Given the description of an element on the screen output the (x, y) to click on. 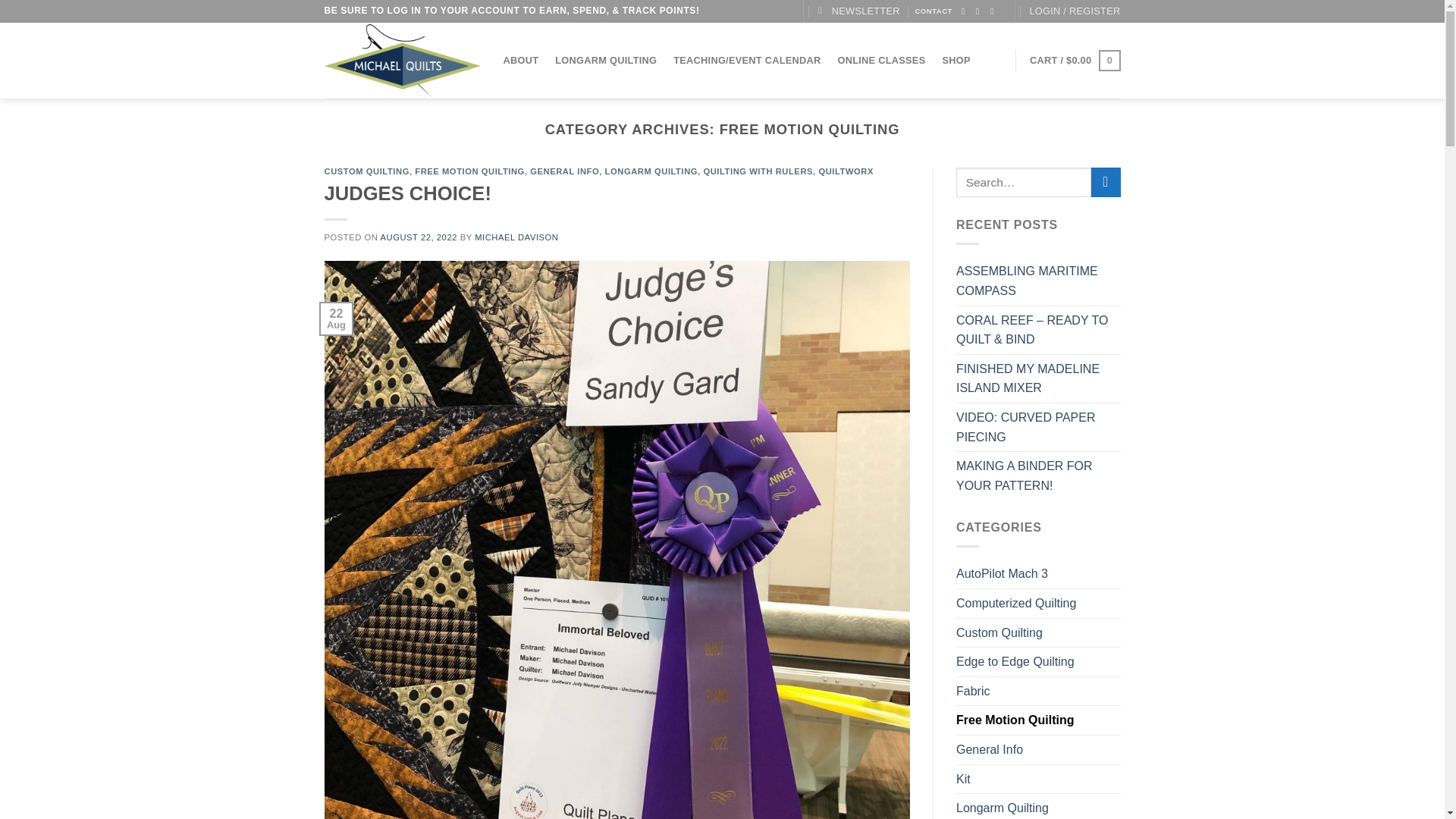
QUILTWORX (845, 171)
QUILTING WITH RULERS (757, 171)
LONGARM QUILTING (651, 171)
LONGARM QUILTING (605, 60)
ONLINE CLASSES (882, 60)
JUDGES CHOICE! (408, 192)
Login (1074, 11)
CONTACT (933, 11)
AUGUST 22, 2022 (418, 236)
